Given the description of an element on the screen output the (x, y) to click on. 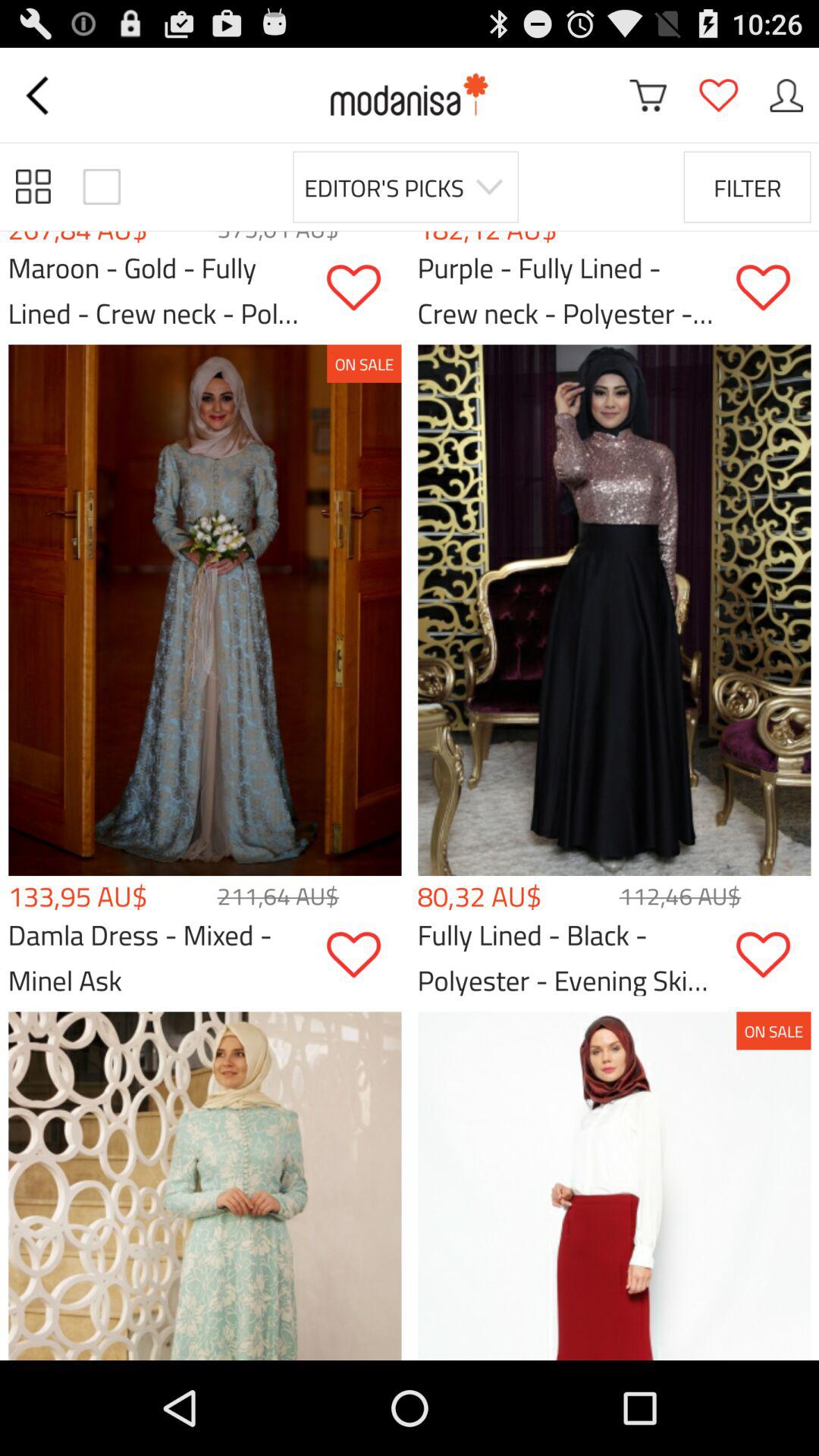
love item (773, 954)
